Given the description of an element on the screen output the (x, y) to click on. 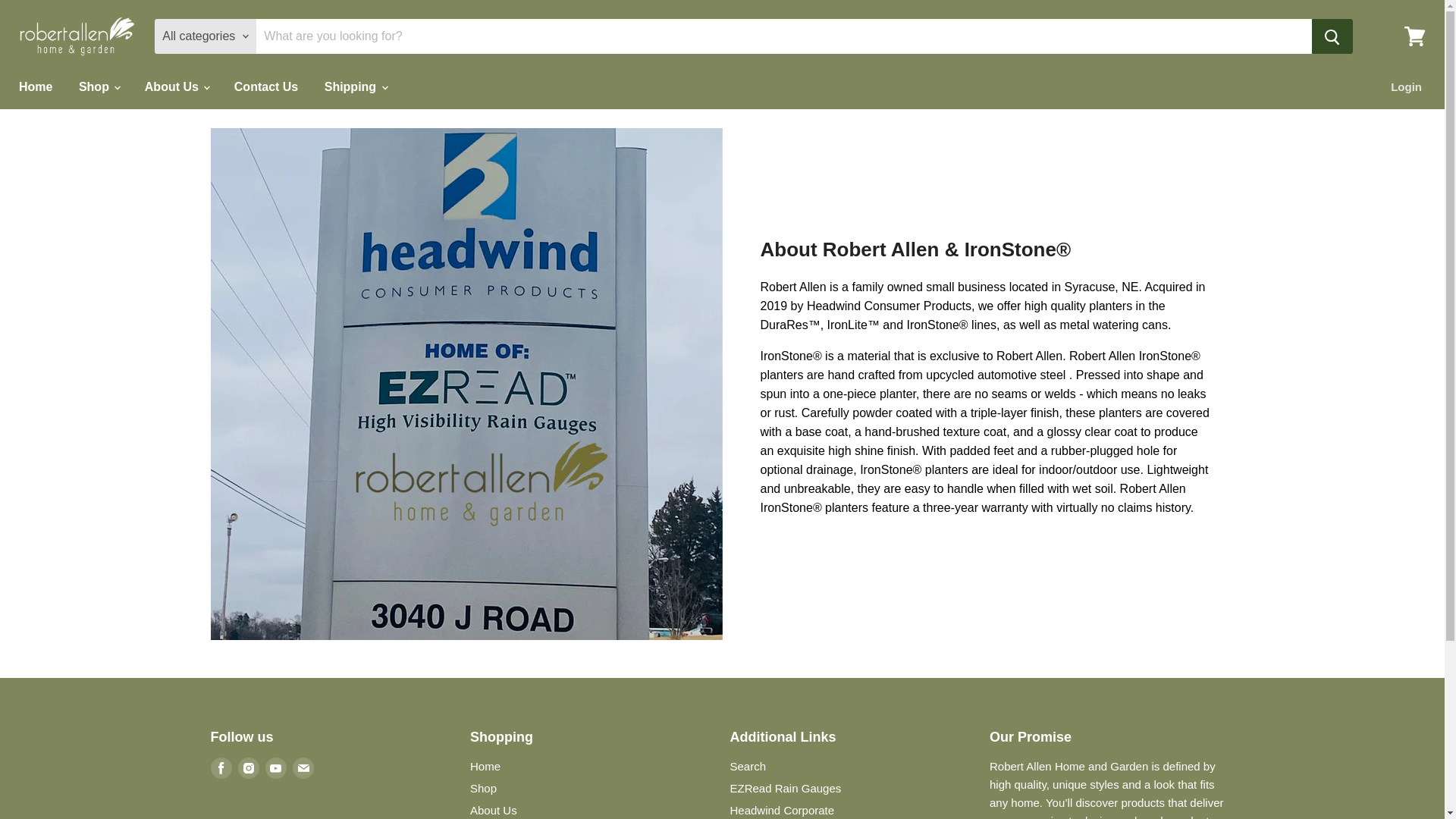
Facebook (221, 767)
Youtube (275, 767)
Email (303, 767)
Home (35, 87)
View cart (1414, 36)
Contact Us (265, 87)
Instagram (248, 767)
Shipping (355, 87)
About Us (176, 87)
Shop (97, 87)
